Given the description of an element on the screen output the (x, y) to click on. 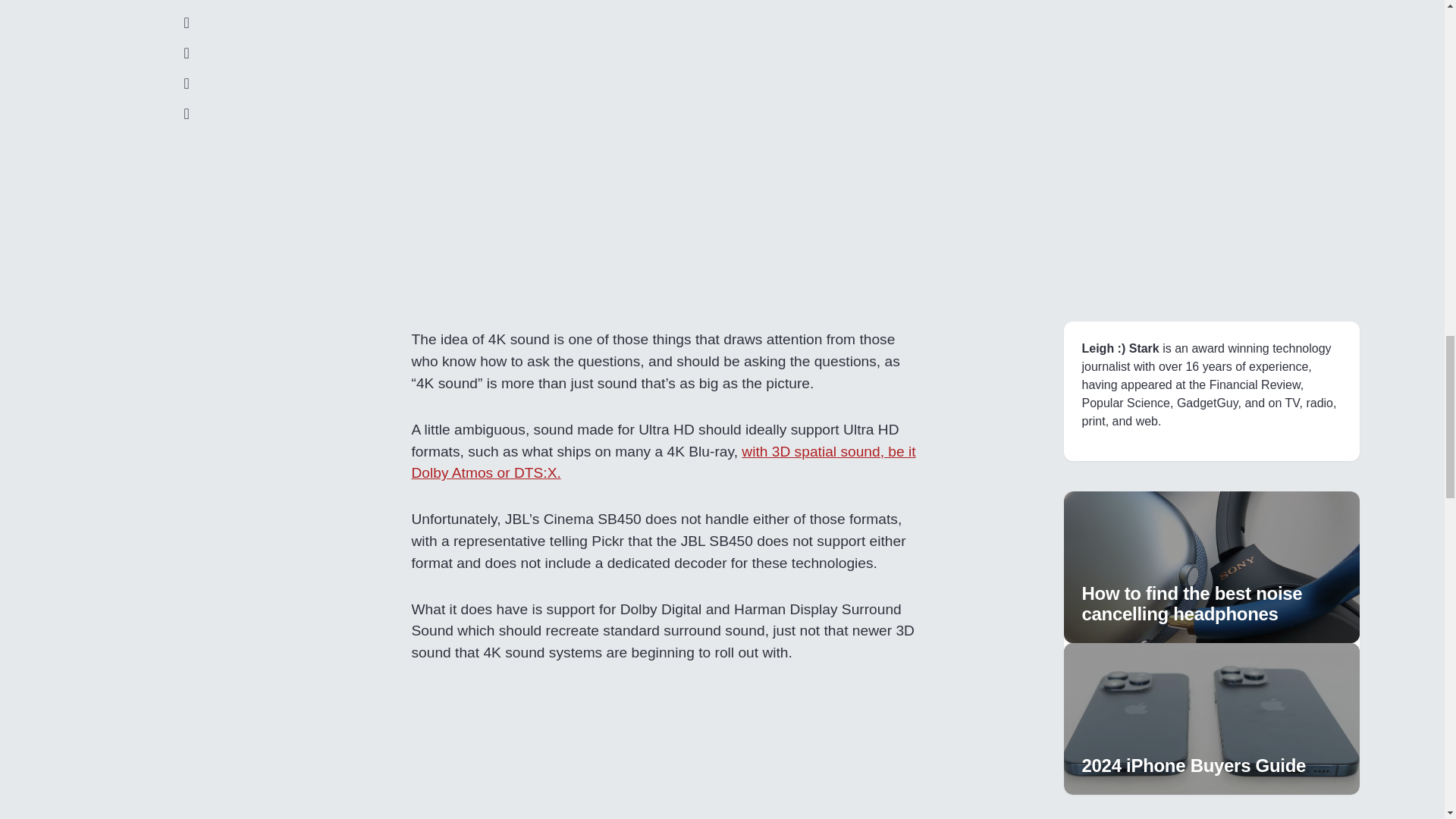
with 3D spatial sound, be it Dolby Atmos or DTS:X. (662, 462)
